Given the description of an element on the screen output the (x, y) to click on. 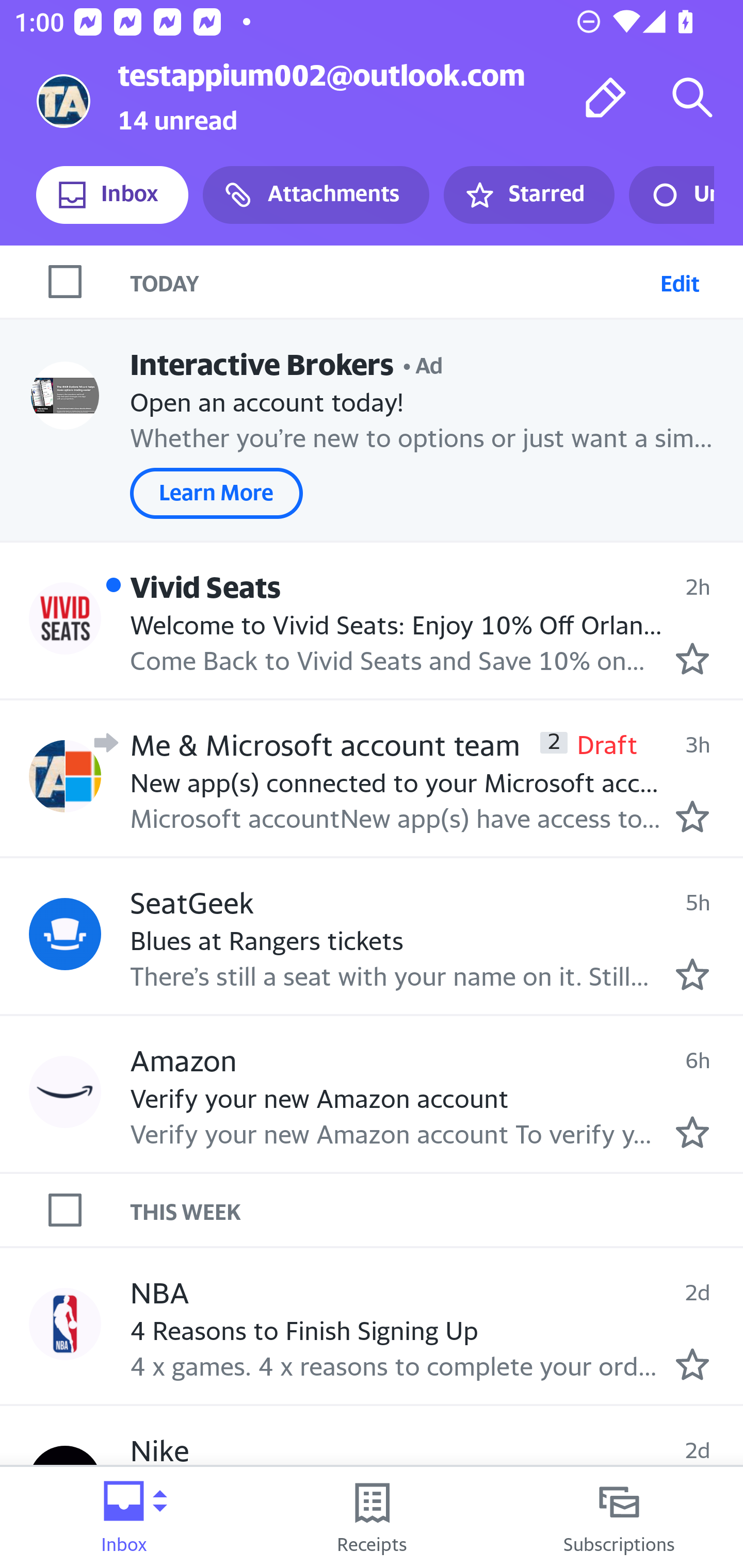
Compose (605, 97)
Search mail (692, 97)
Attachments (315, 195)
Starred (528, 195)
TODAY (391, 281)
Edit Select emails (679, 281)
Profile
Vivid Seats (64, 617)
Mark as starred. (692, 659)
Profile
Me & Microsoft account team (64, 776)
Mark as starred. (692, 816)
Profile
SeatGeek (64, 934)
Mark as starred. (692, 974)
Profile
Amazon (64, 1091)
Mark as starred. (692, 1132)
THIS WEEK (436, 1209)
Profile
NBA (64, 1323)
Mark as starred. (692, 1364)
Inbox Folder picker (123, 1517)
Receipts (371, 1517)
Subscriptions (619, 1517)
